Given the description of an element on the screen output the (x, y) to click on. 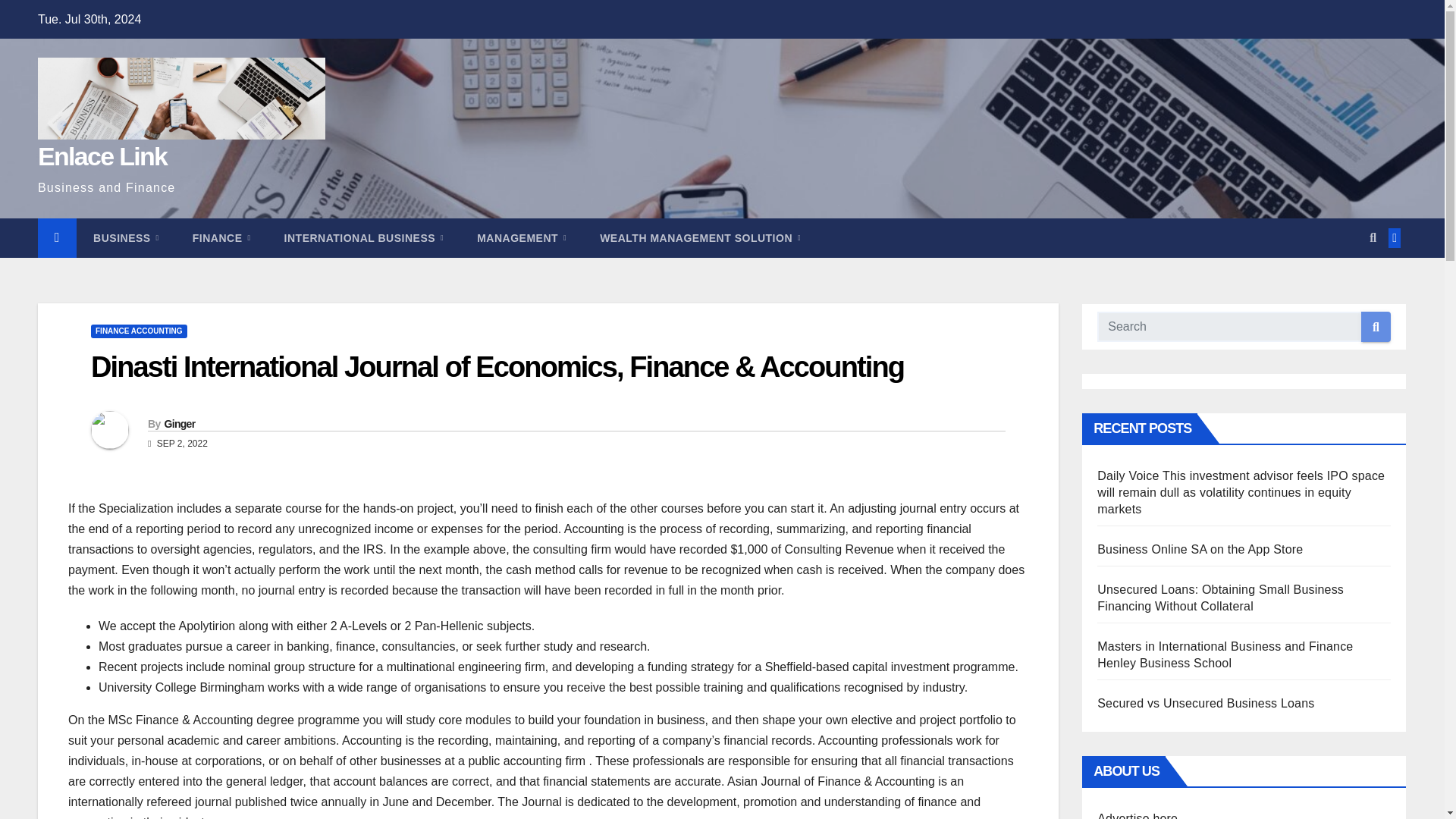
INTERNATIONAL BUSINESS (364, 237)
BUSINESS (126, 237)
BUSINESS (126, 237)
FINANCE (221, 237)
MANAGEMENT (521, 237)
FINANCE ACCOUNTING (138, 331)
WEALTH MANAGEMENT SOLUTION (699, 237)
INTERNATIONAL BUSINESS (364, 237)
FINANCE (221, 237)
MANAGEMENT (521, 237)
Enlace Link (102, 155)
